Given the description of an element on the screen output the (x, y) to click on. 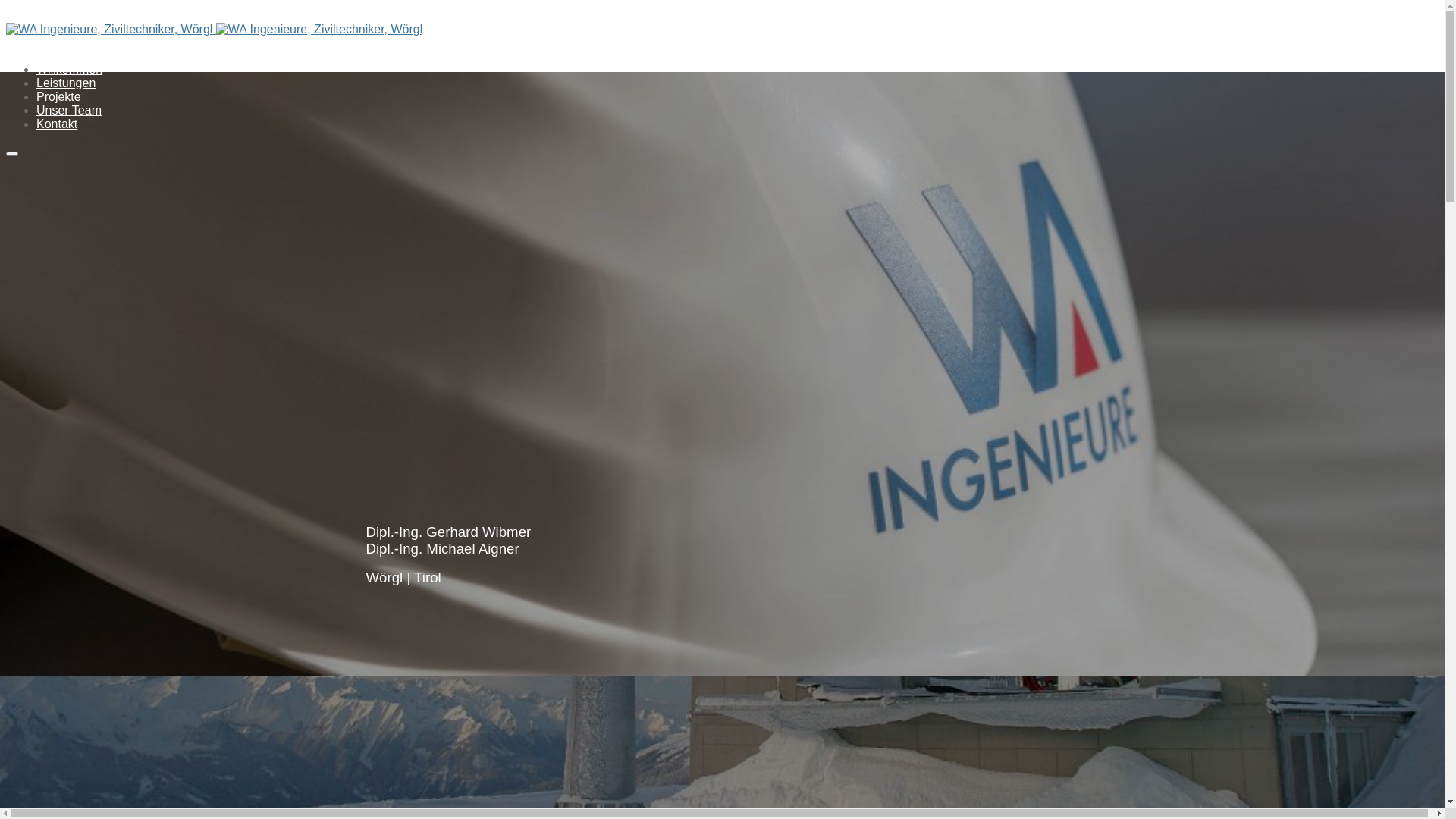
Willkommen Element type: text (69, 68)
Kontakt Element type: text (56, 123)
Unser Team Element type: text (68, 109)
Leistungen Element type: text (65, 82)
Projekte Element type: text (58, 96)
